Given the description of an element on the screen output the (x, y) to click on. 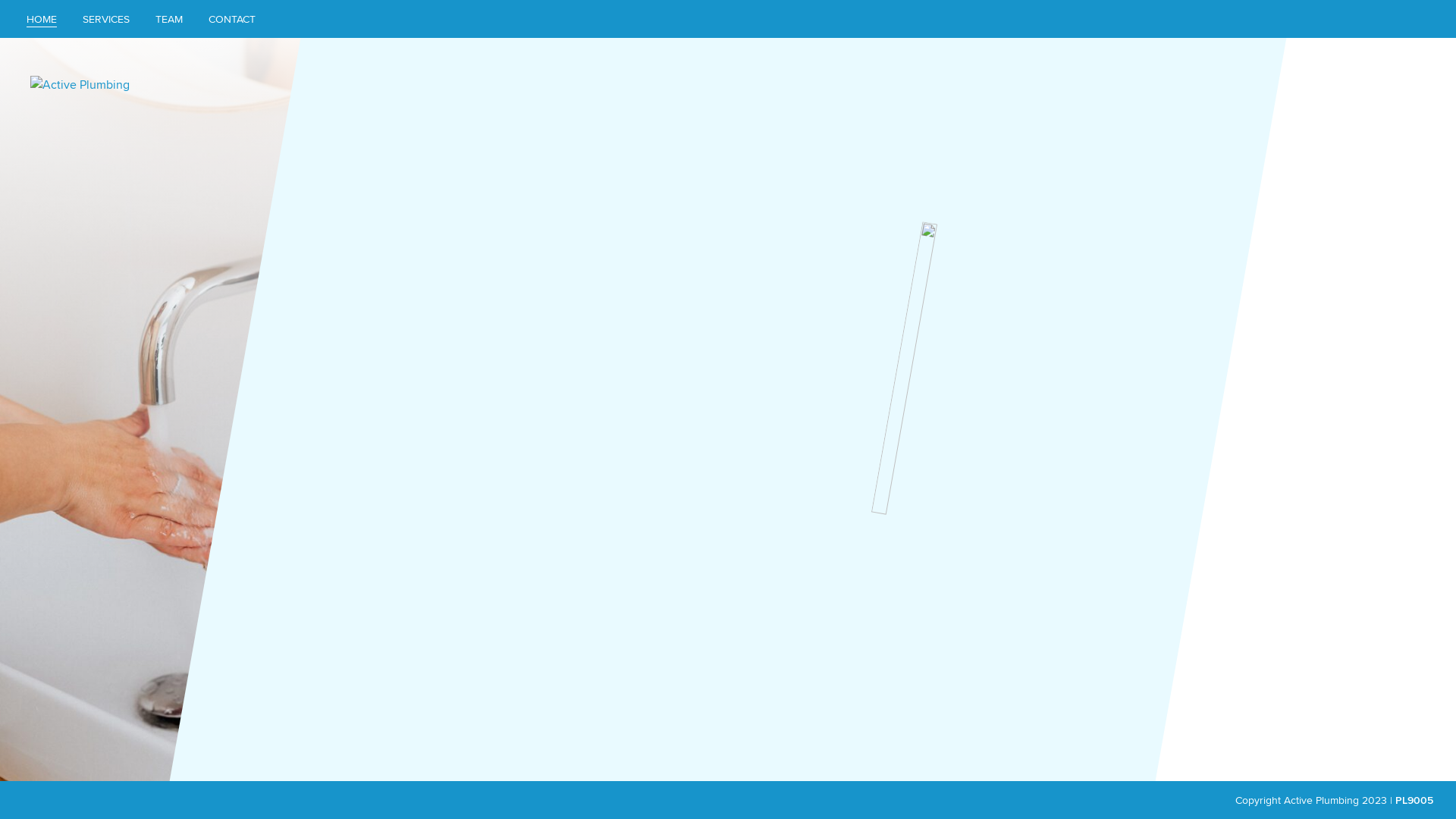
HOME Element type: text (41, 18)
CONTACT Element type: text (231, 18)
TEAM Element type: text (169, 18)
SERVICES Element type: text (106, 18)
